Given the description of an element on the screen output the (x, y) to click on. 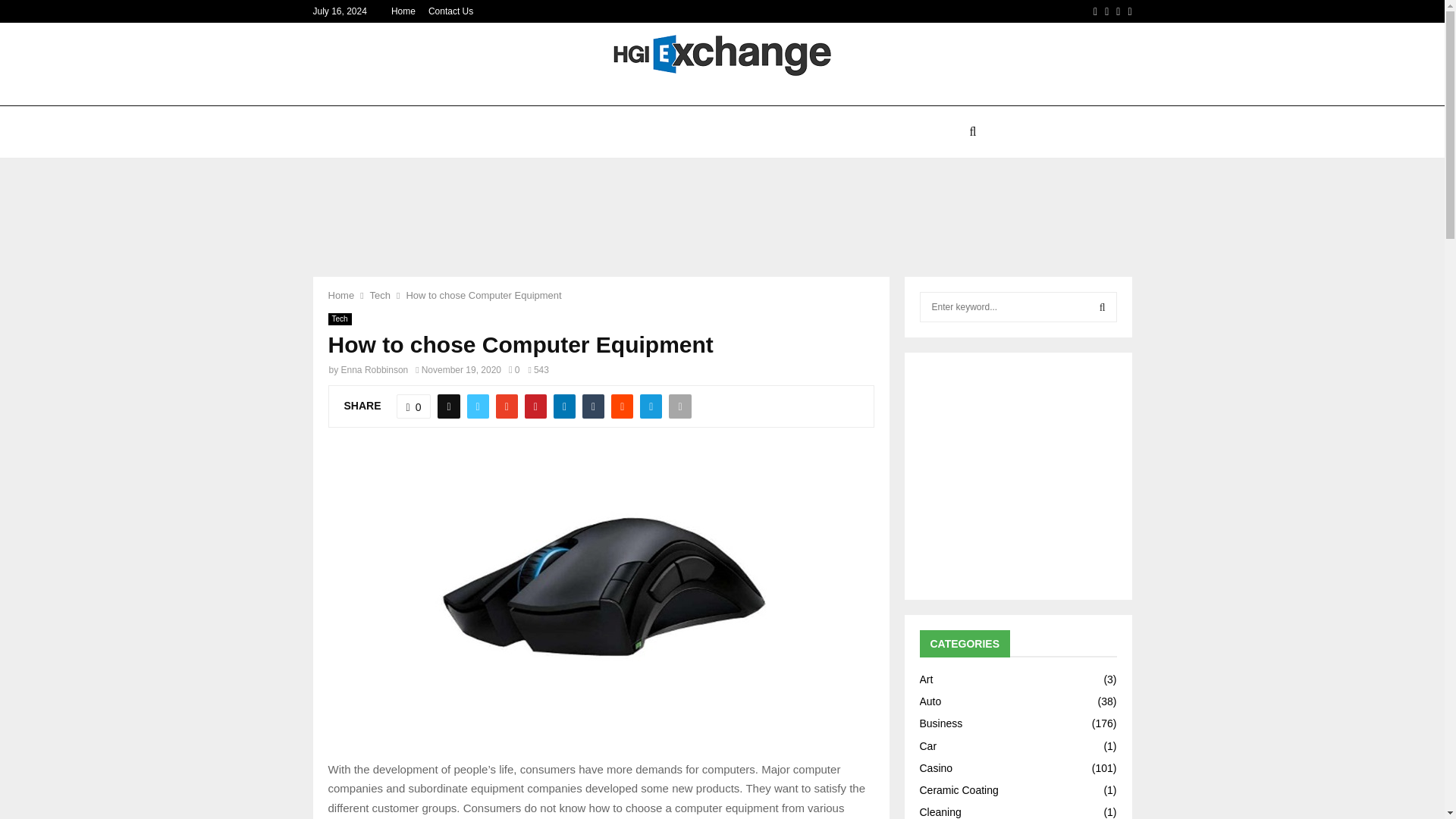
0 (513, 369)
BUSINESS (852, 131)
Tech (338, 318)
EDUCATION (659, 131)
0 (413, 405)
Enna Robbinson (374, 369)
Home (340, 295)
Advertisement (721, 207)
How to chose Computer Equipment (483, 295)
Like (413, 405)
Home (402, 11)
Contact Us (450, 11)
SECURITY (926, 131)
Tech (379, 295)
